Given the description of an element on the screen output the (x, y) to click on. 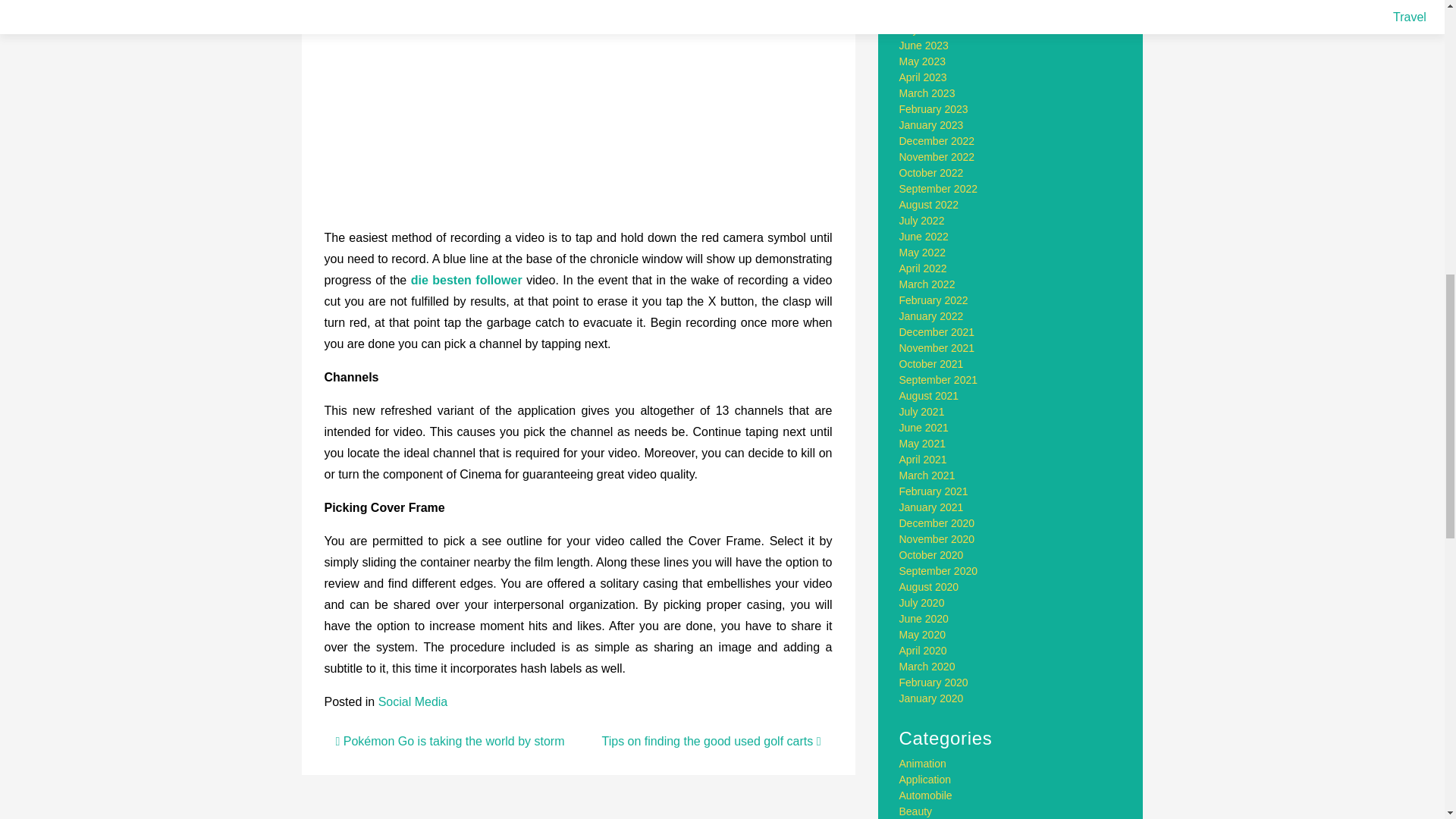
September 2022 (938, 188)
August 2022 (929, 204)
Tips on finding the good used golf carts  (711, 740)
May 2023 (921, 61)
February 2023 (933, 109)
November 2022 (937, 156)
April 2023 (923, 77)
March 2023 (927, 92)
August 2023 (929, 13)
July 2022 (921, 220)
